Given the description of an element on the screen output the (x, y) to click on. 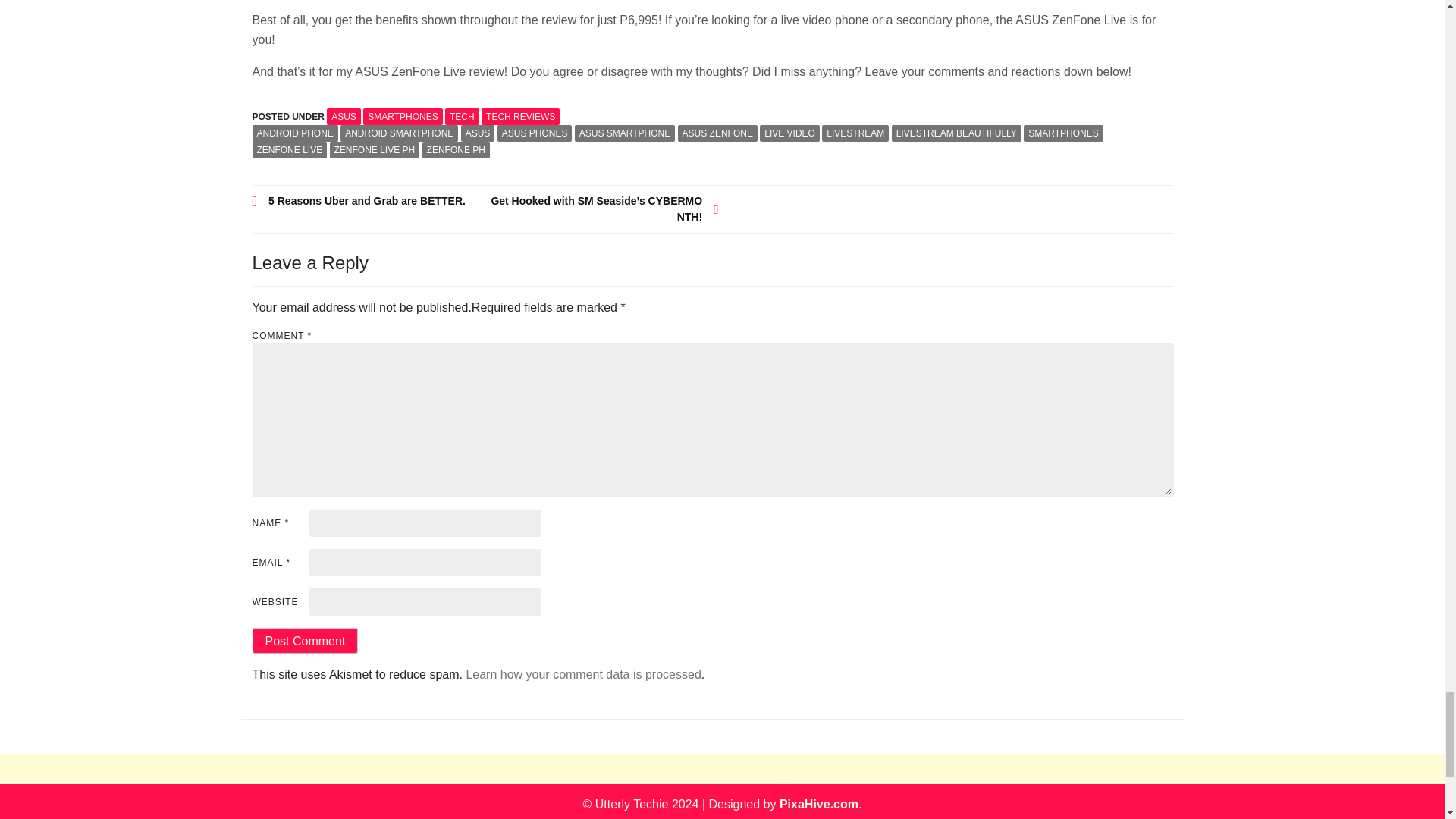
ZENFONE LIVE (288, 149)
ZENFONE PH (455, 149)
TECH (462, 116)
LIVESTREAM (855, 133)
SMARTPHONES (1062, 133)
ASUS PHONES (534, 133)
LIVESTREAM BEAUTIFULLY (956, 133)
ASUS ZENFONE (717, 133)
SMARTPHONES (402, 116)
ANDROID PHONE (294, 133)
5 Reasons Uber and Grab are BETTER. (367, 201)
ASUS SMARTPHONE (625, 133)
LIVE VIDEO (789, 133)
Post Comment (304, 640)
ANDROID SMARTPHONE (399, 133)
